Given the description of an element on the screen output the (x, y) to click on. 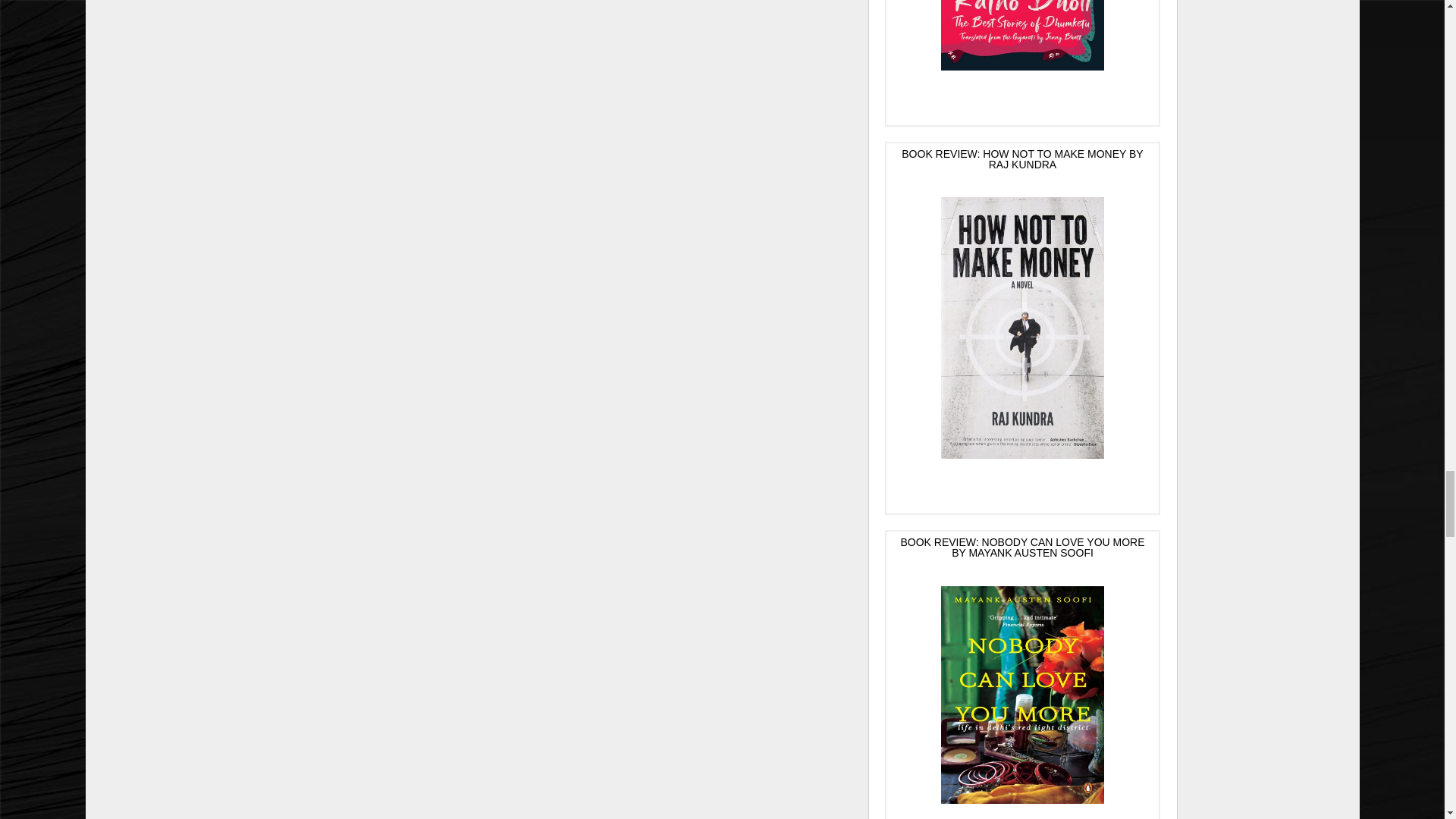
BOOK REVIEW: NOBODY CAN LOVE YOU MORE BY MAYANK AUSTEN SOOFI (1022, 675)
